Given the description of an element on the screen output the (x, y) to click on. 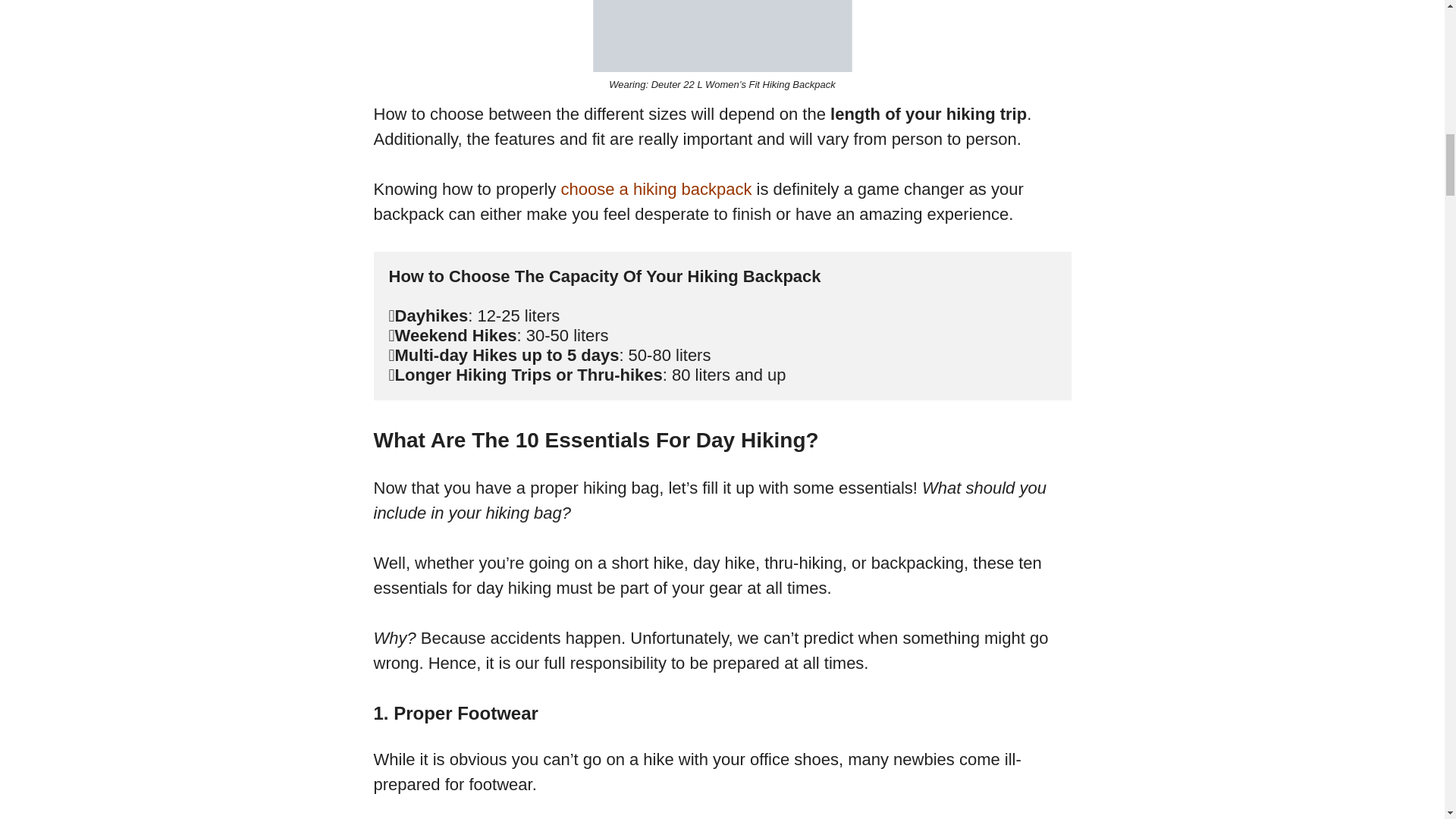
choose a hiking backpack (656, 189)
